Given the description of an element on the screen output the (x, y) to click on. 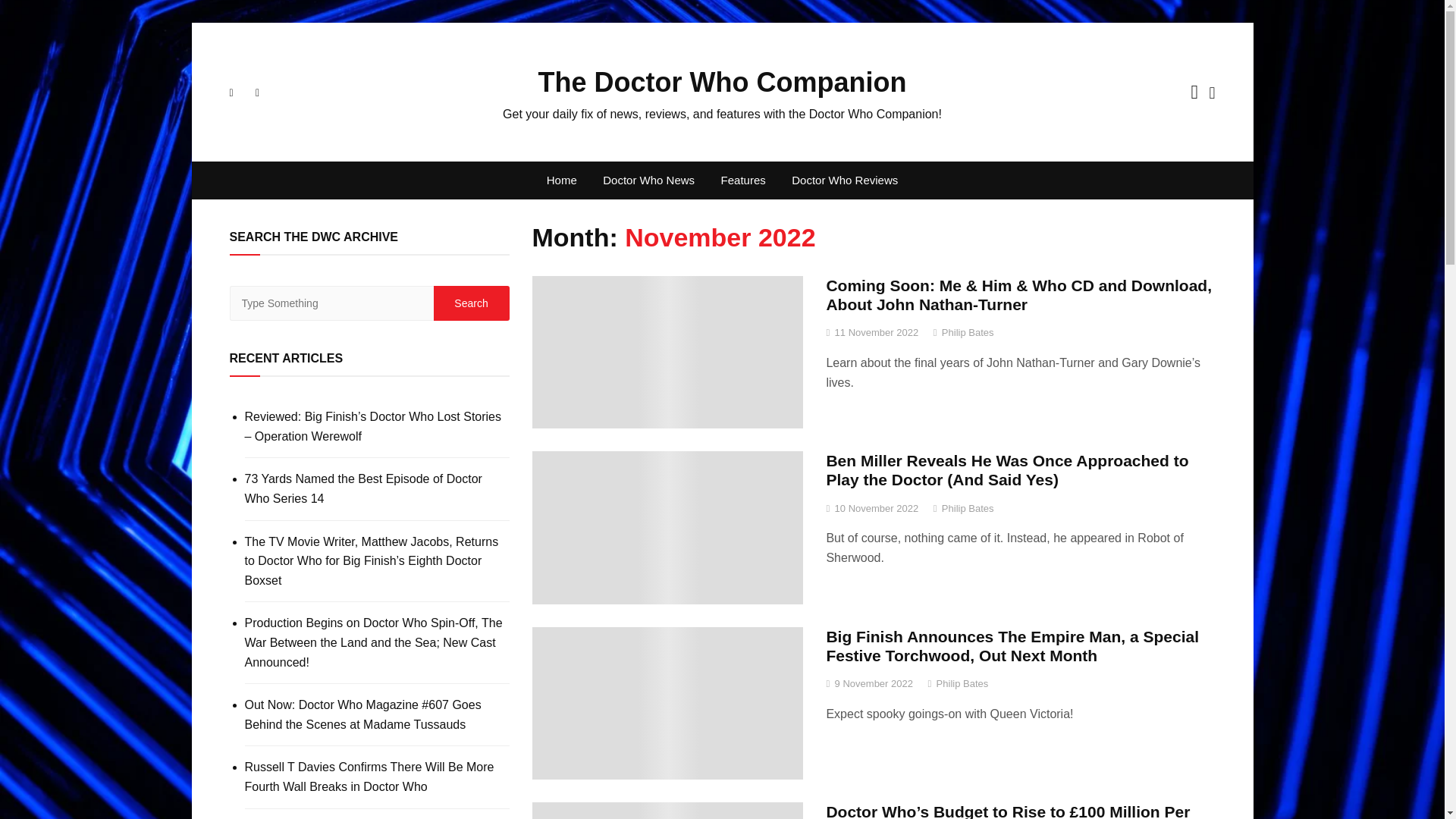
Search (471, 303)
Features (743, 180)
The Doctor Who Companion (722, 81)
Doctor Who News (648, 180)
Doctor Who Reviews (844, 180)
Home (561, 180)
